Given the description of an element on the screen output the (x, y) to click on. 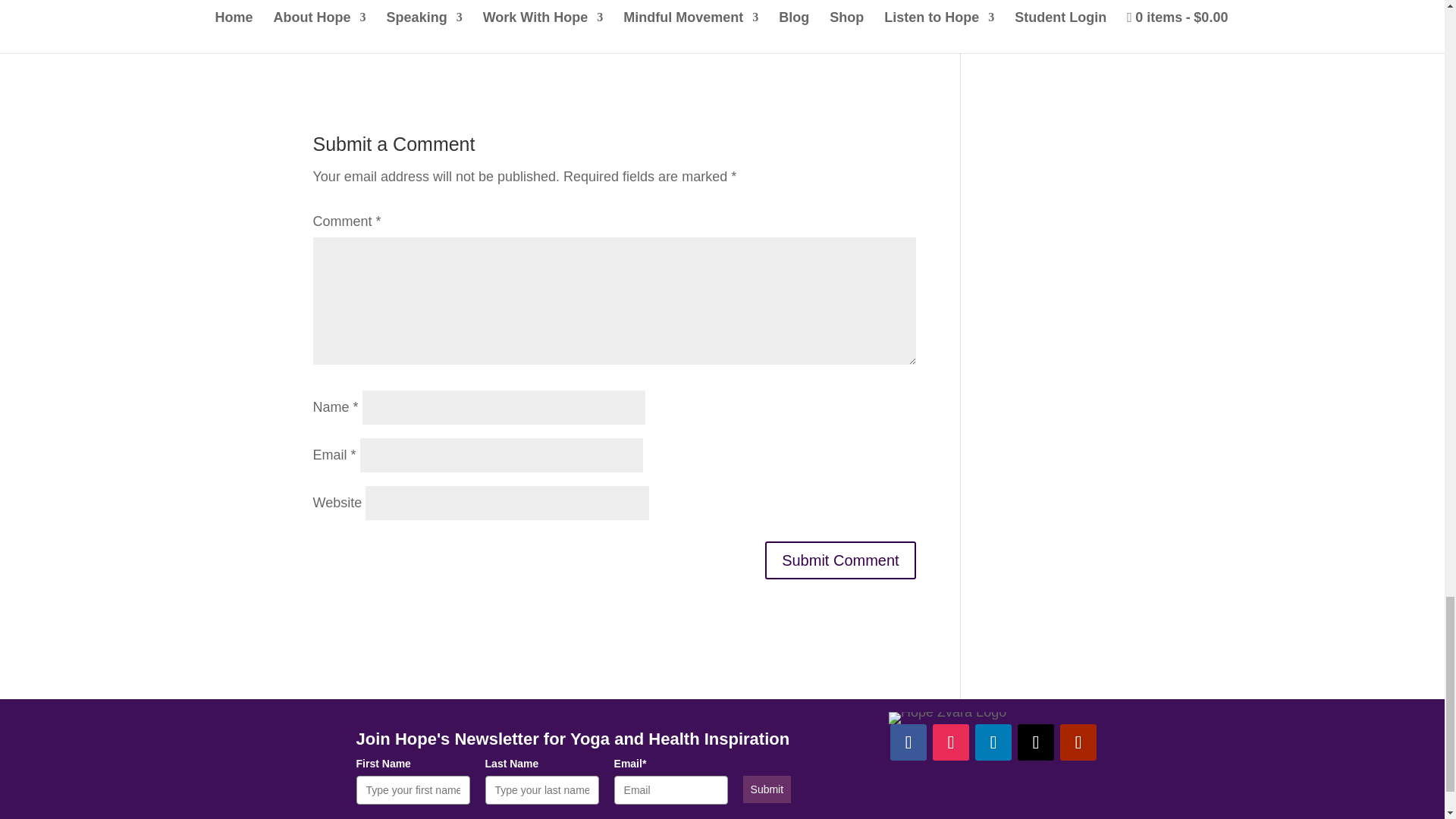
Gmail (383, 37)
Pinterest (690, 5)
Follow on X (1035, 741)
Follow on Instagram (951, 741)
Submit Comment (840, 560)
Yahoo Mail (536, 37)
LinkedIn (844, 5)
Follow on Youtube (1077, 741)
Follow on LinkedIn (993, 741)
Facebook (383, 5)
